Given the description of an element on the screen output the (x, y) to click on. 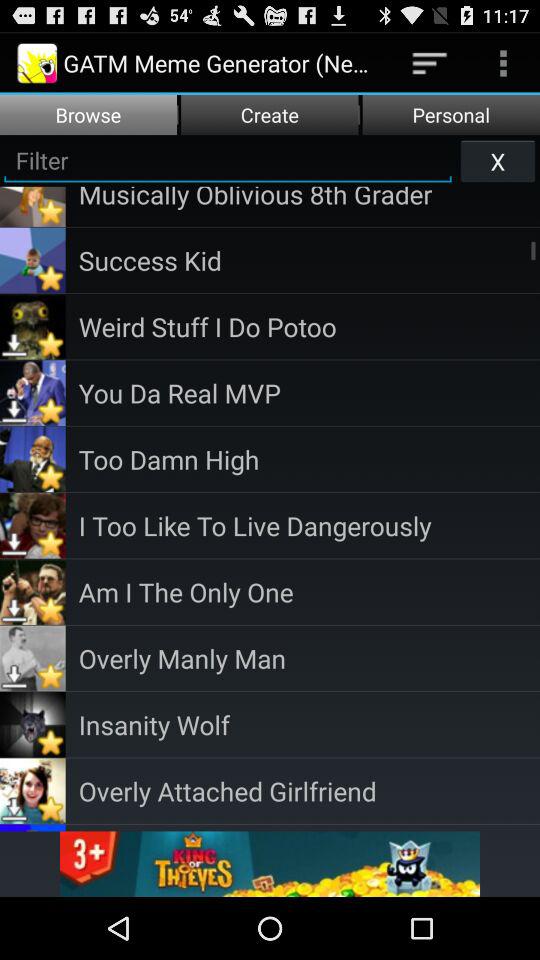
turn off the item above i too like icon (309, 458)
